Given the description of an element on the screen output the (x, y) to click on. 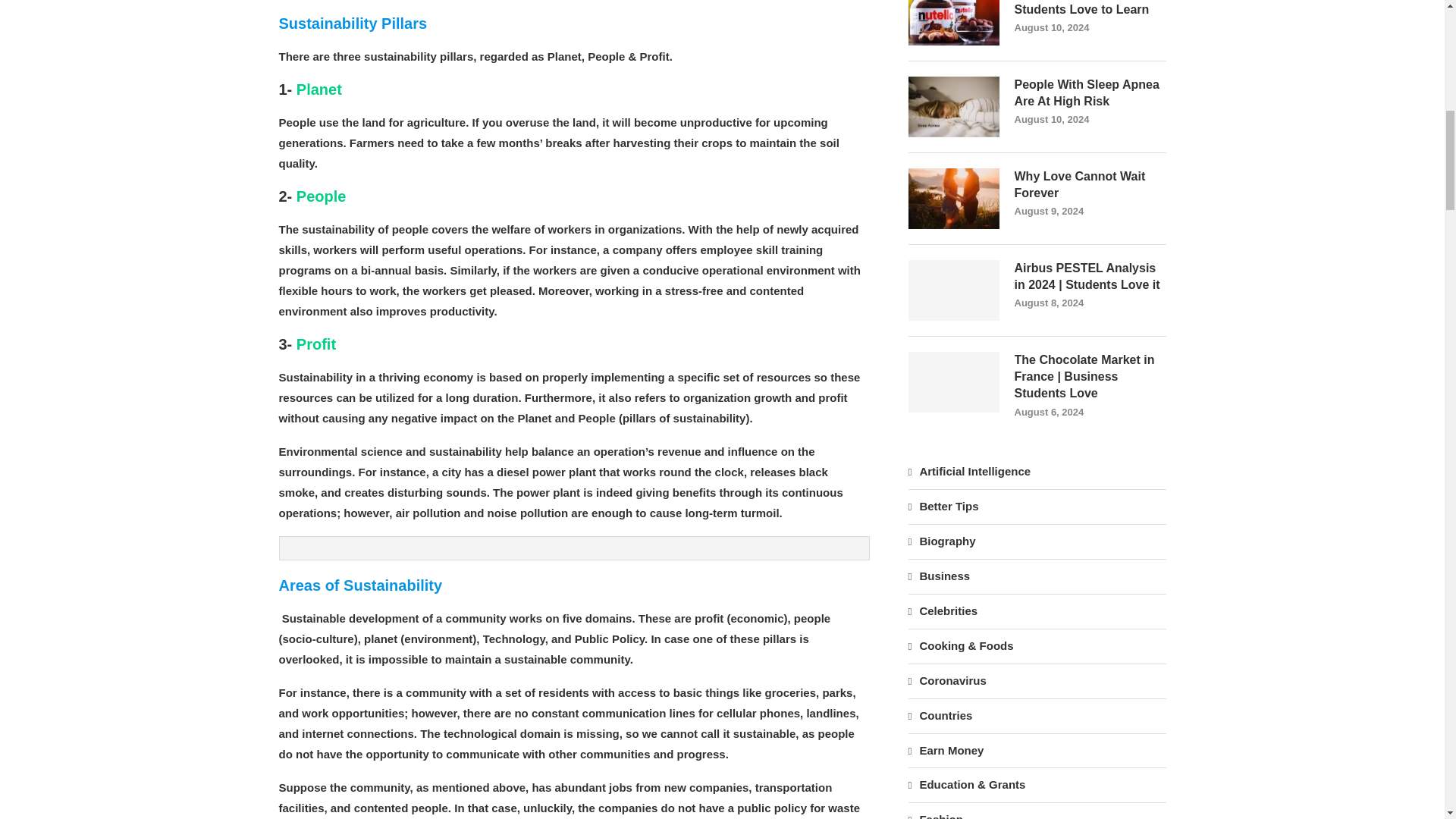
People With Sleep Apnea Are At High Risk (953, 106)
Why Love Cannot Wait Forever (1090, 185)
Why Love Cannot Wait Forever (953, 198)
People With Sleep Apnea Are At High Risk (1090, 93)
